Given the description of an element on the screen output the (x, y) to click on. 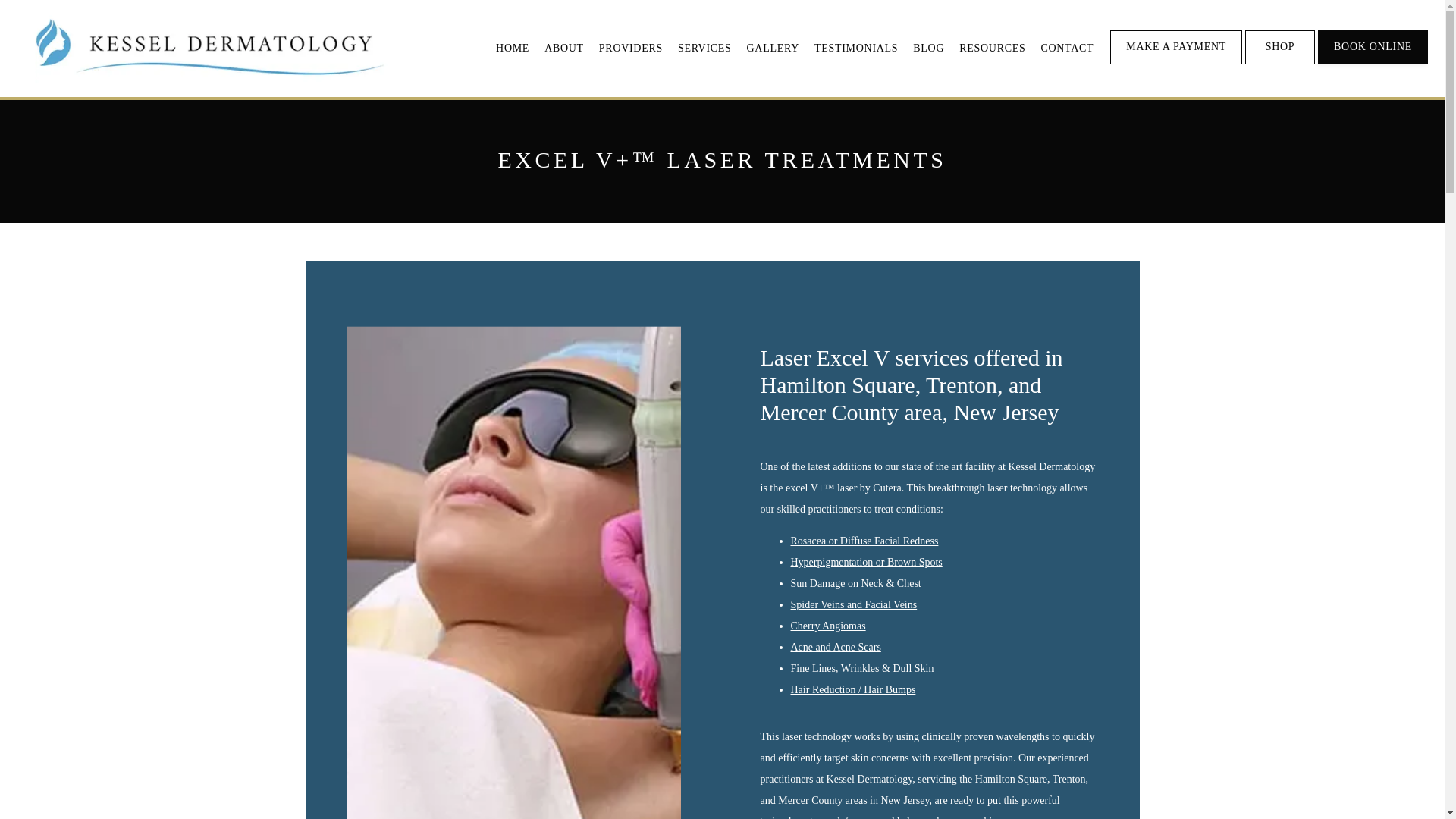
MAKE A PAYMENT (1175, 62)
Cherry Angiomas (827, 625)
GALLERY (772, 48)
Hyperpigmentation or Brown Spots (866, 562)
Rosacea or Diffuse Facial Redness (863, 541)
CONTACT (1067, 48)
PROVIDERS (630, 48)
BLOG (927, 48)
HOME (512, 48)
Spider Veins and Facial Veins (853, 604)
Acne and Acne Scars (835, 646)
BOOK ONLINE (1372, 62)
SHOP (1279, 62)
TESTIMONIALS (855, 48)
